Given the description of an element on the screen output the (x, y) to click on. 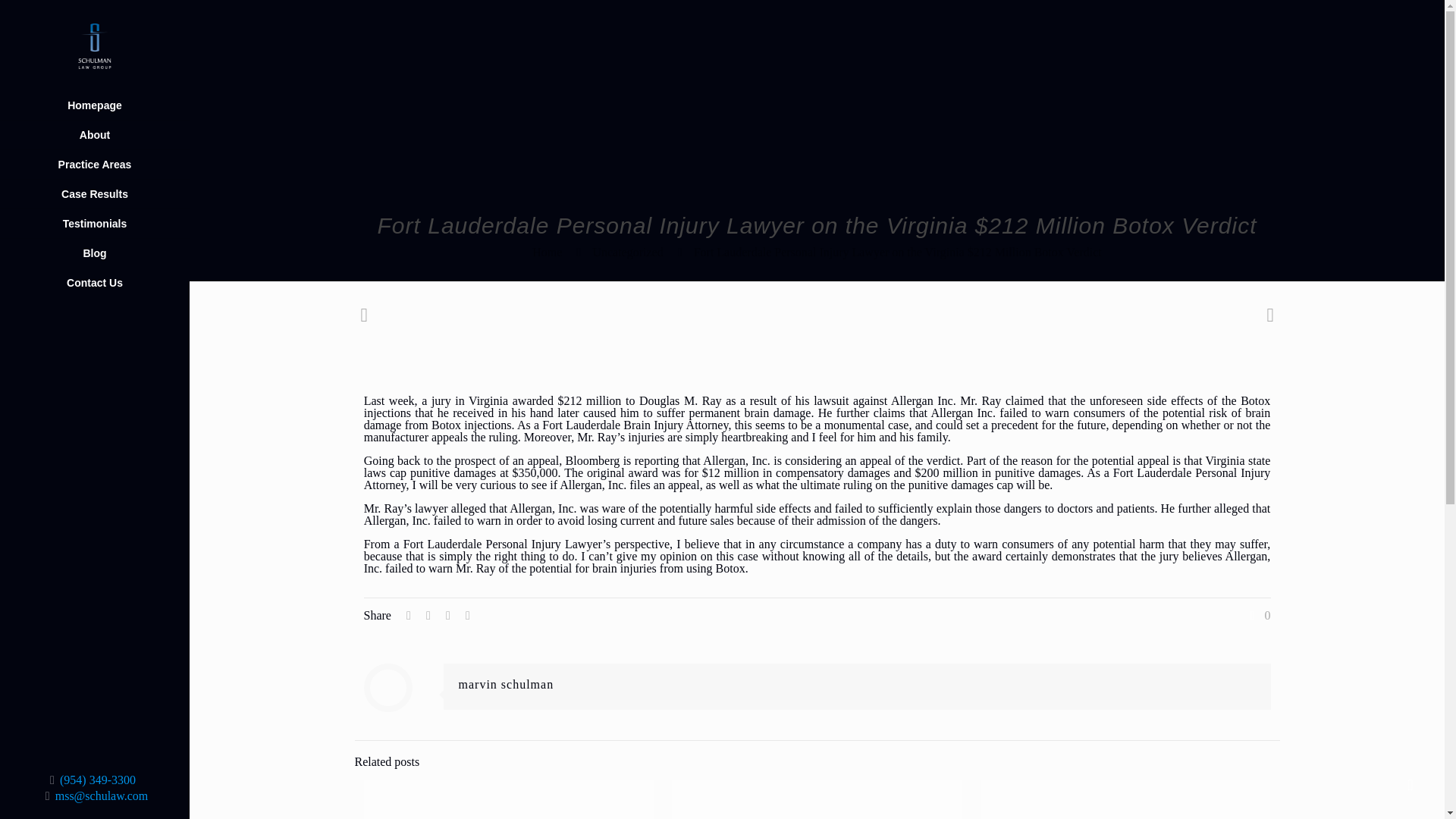
Testimonials (94, 224)
Uncategorized (627, 251)
Schulman Law Group (94, 45)
Fort Lauderdale Personal Injury Attorney (817, 478)
marvin schulman (505, 684)
Allergan, Inc. is considering an appeal of the verdict (831, 460)
Home (547, 251)
Blog (94, 253)
Fort Lauderdale Brain Injury Attorney (634, 424)
Homepage (94, 105)
